Given the description of an element on the screen output the (x, y) to click on. 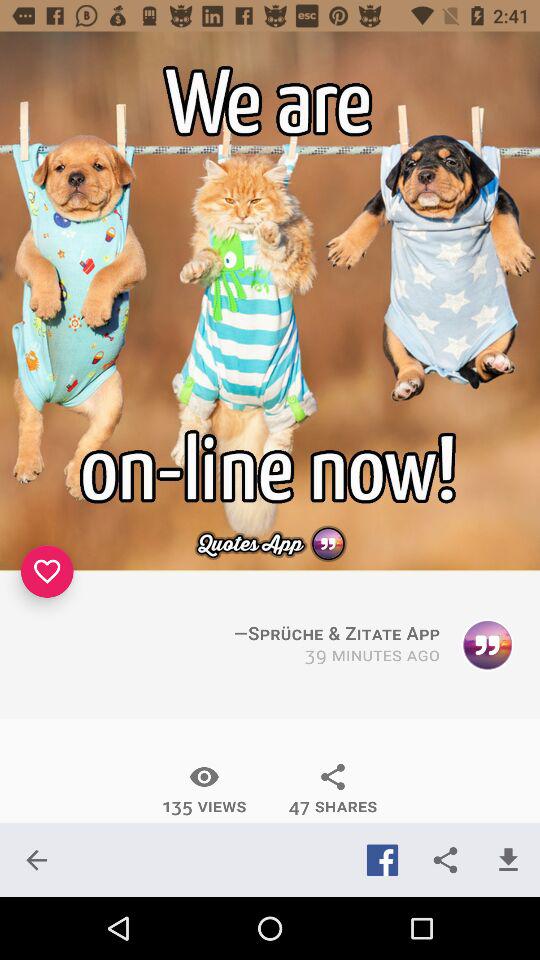
liked it (47, 571)
